Given the description of an element on the screen output the (x, y) to click on. 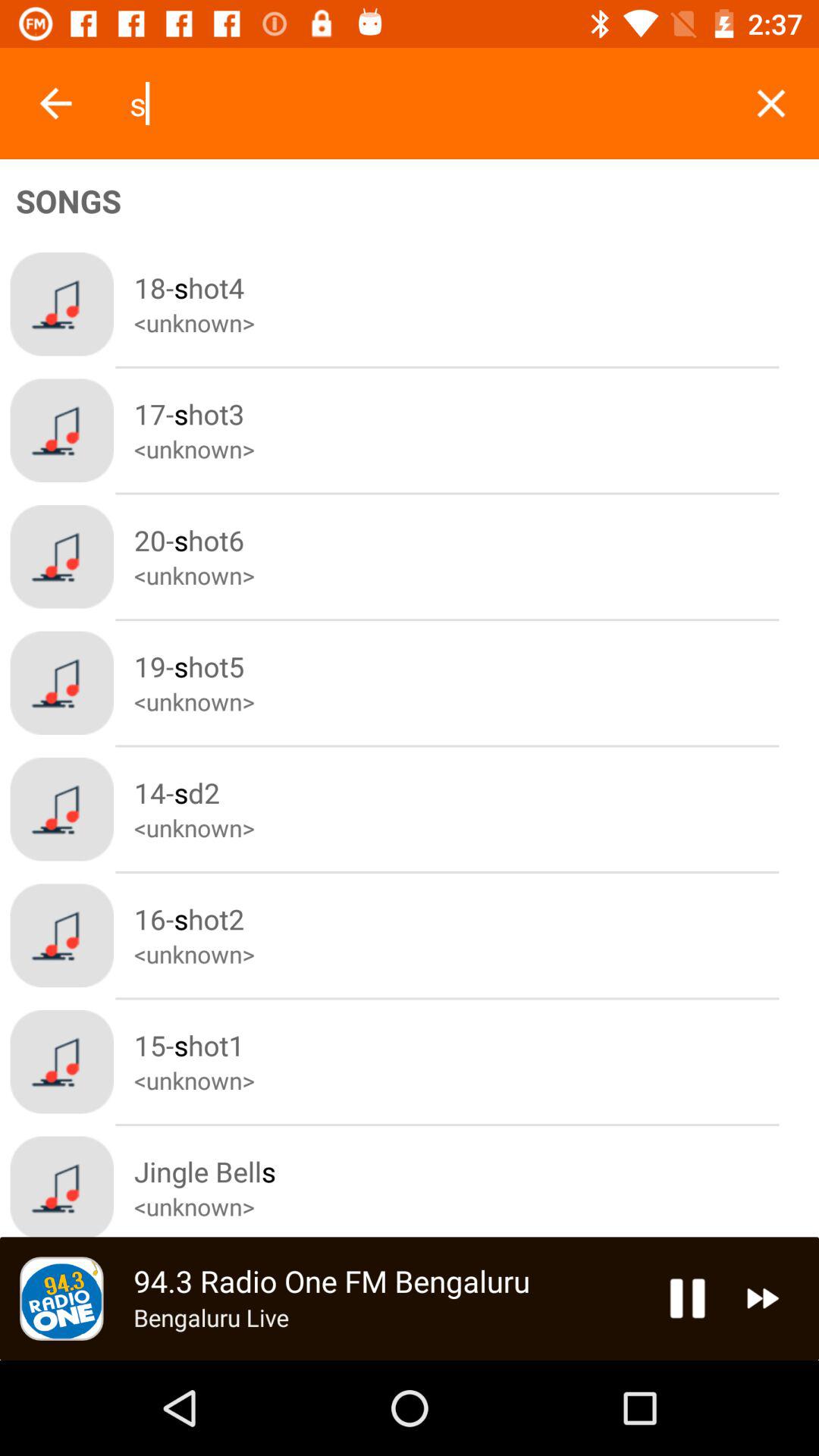
open the item at the top right corner (771, 103)
